Given the description of an element on the screen output the (x, y) to click on. 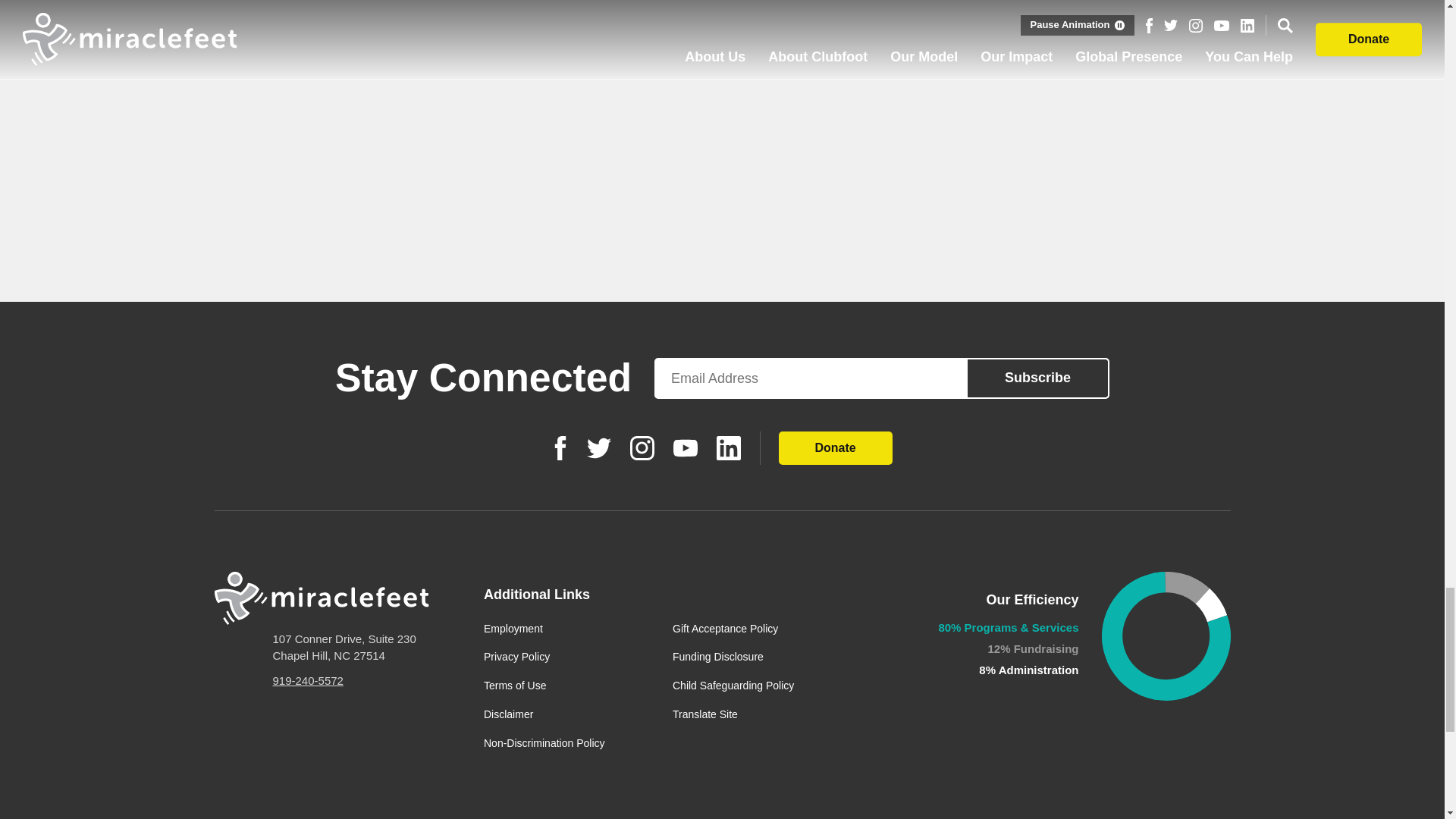
Subscribe (1038, 378)
